Given the description of an element on the screen output the (x, y) to click on. 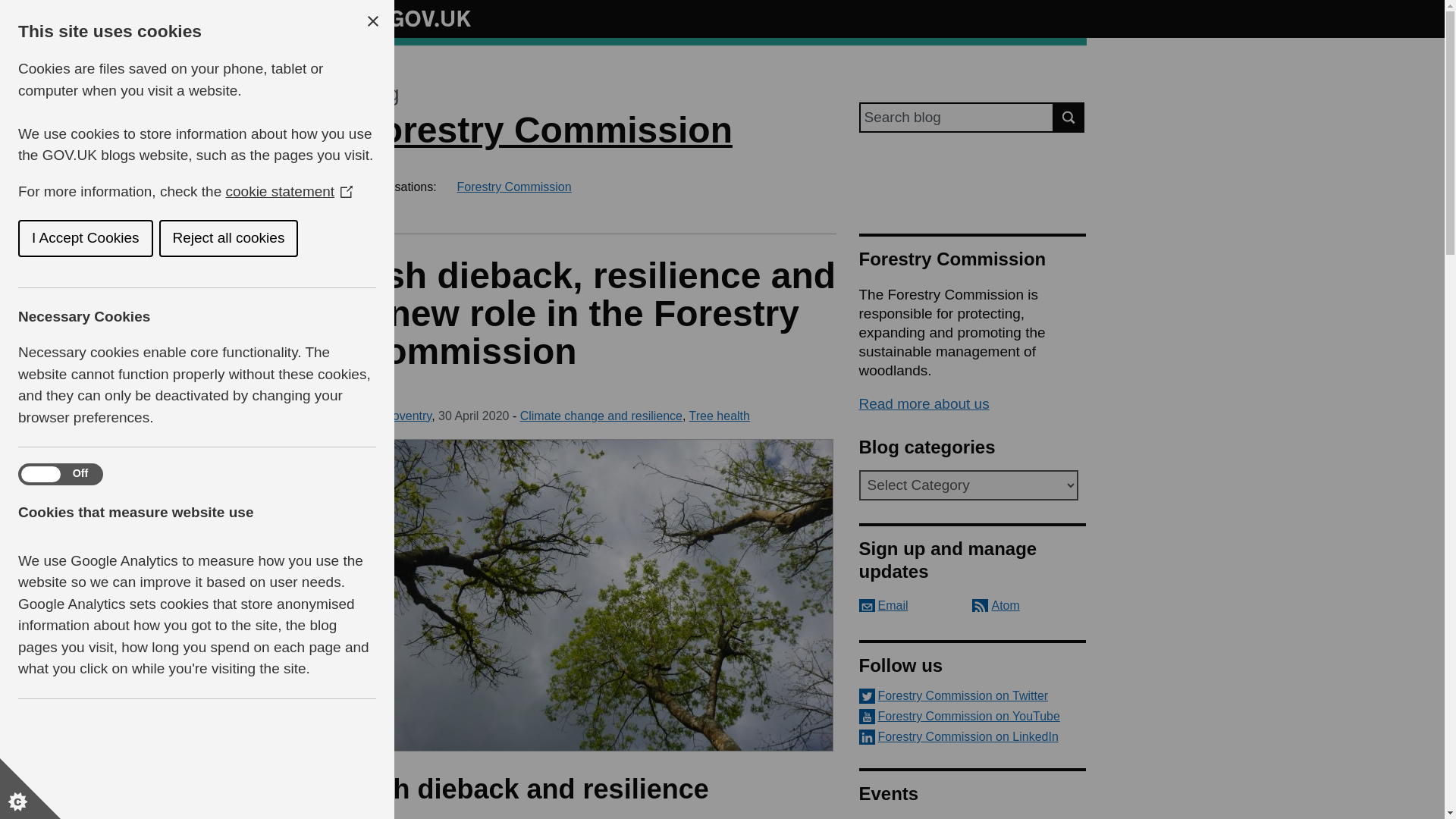
Reject all cookies (88, 238)
Posts by Rob Coventry (394, 415)
GOV.UK (414, 18)
Atom (995, 604)
Read more about us (923, 403)
Search (1069, 117)
Search (1069, 117)
Climate change and resilience (600, 415)
Forestry Commission on LinkedIn (972, 736)
Blog (378, 93)
Forestry Commission (545, 129)
Tree health (718, 415)
GOV.UK (414, 15)
Rob Coventry (394, 415)
Skip to main content (11, 7)
